Given the description of an element on the screen output the (x, y) to click on. 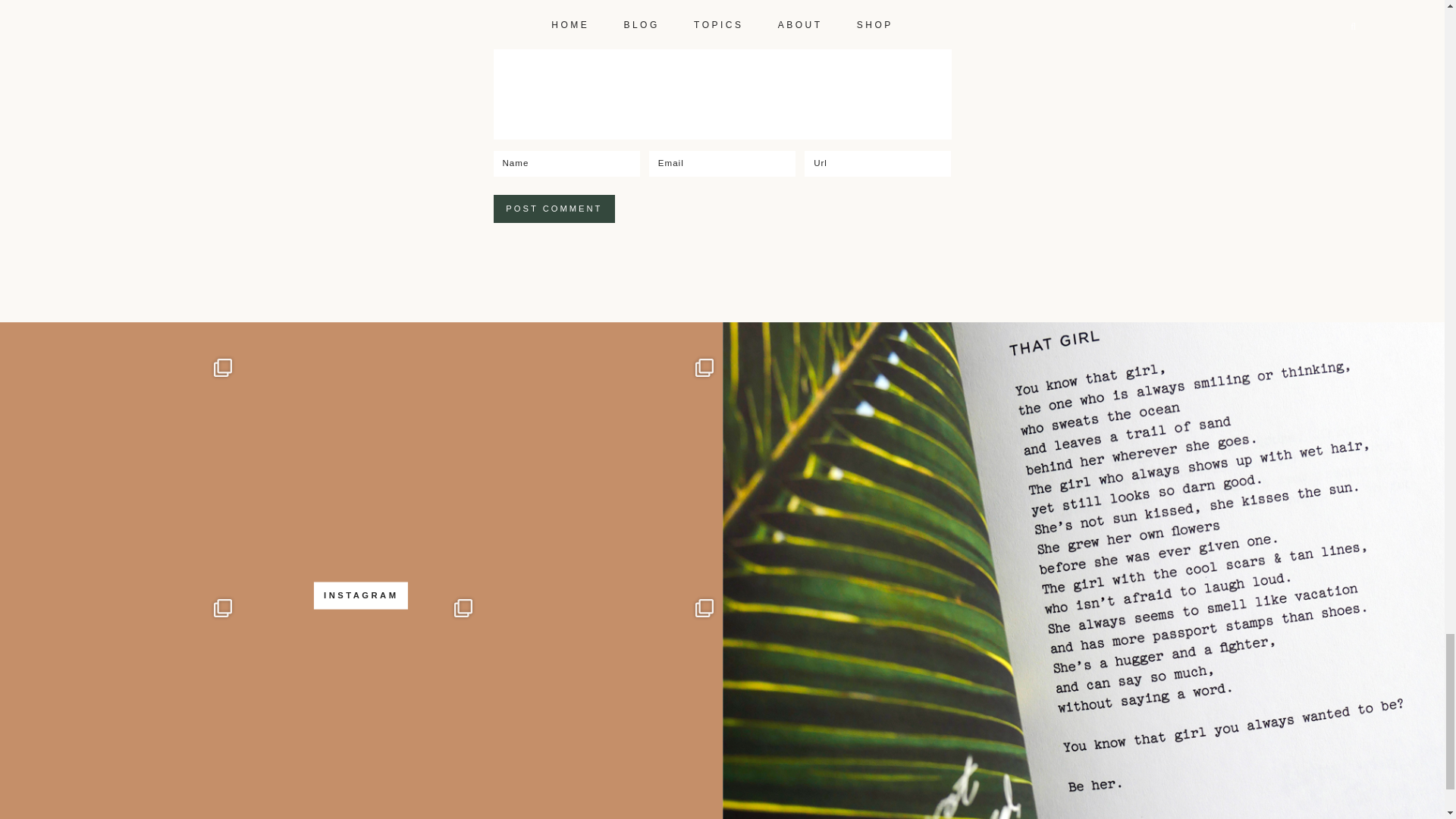
Post Comment (553, 208)
